Given the description of an element on the screen output the (x, y) to click on. 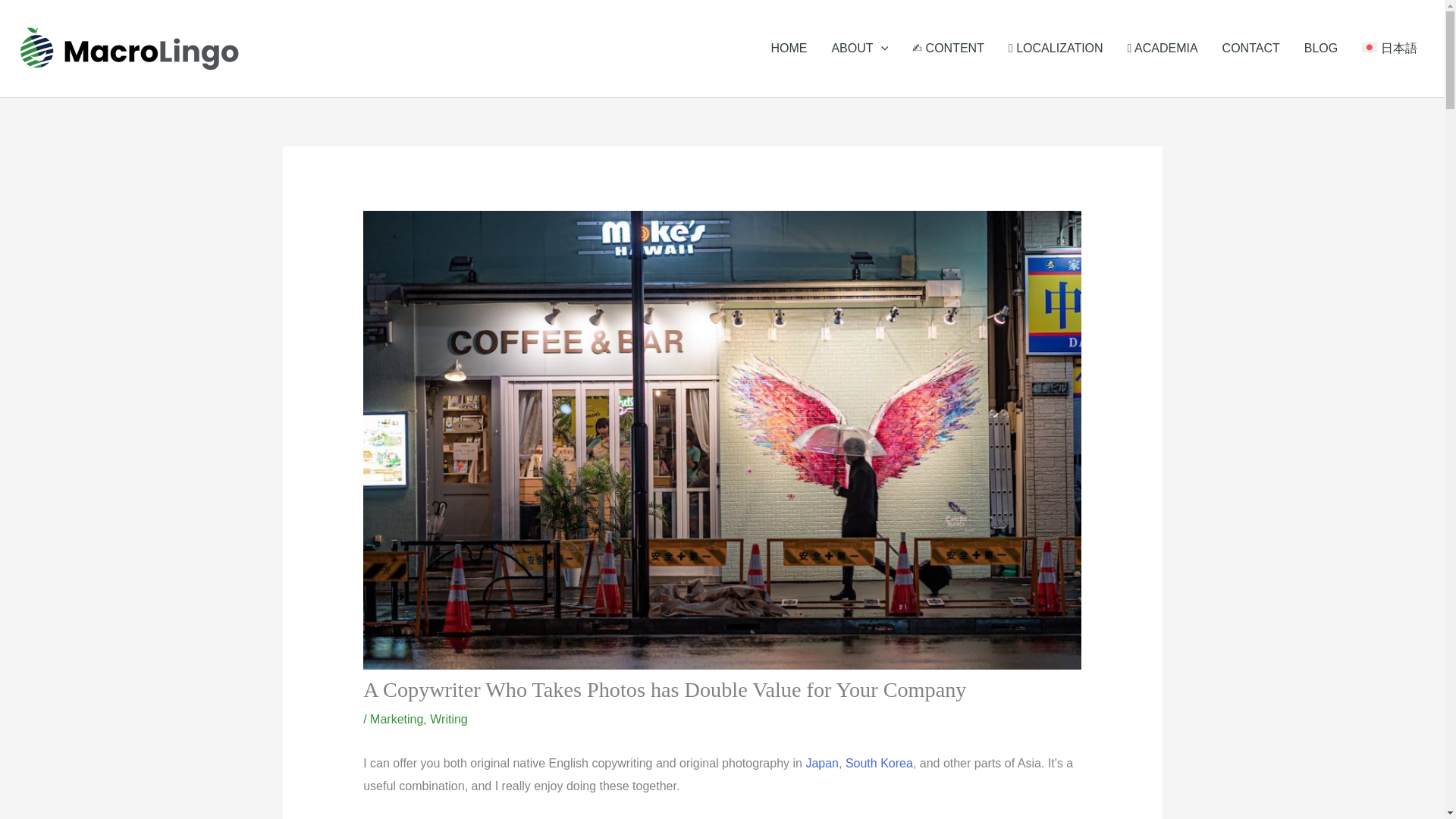
CONTACT (1250, 48)
HOME (788, 48)
Writing (448, 718)
South Korea (878, 762)
Marketing (396, 718)
BLOG (1320, 48)
ABOUT (858, 48)
Japan (821, 762)
